Given the description of an element on the screen output the (x, y) to click on. 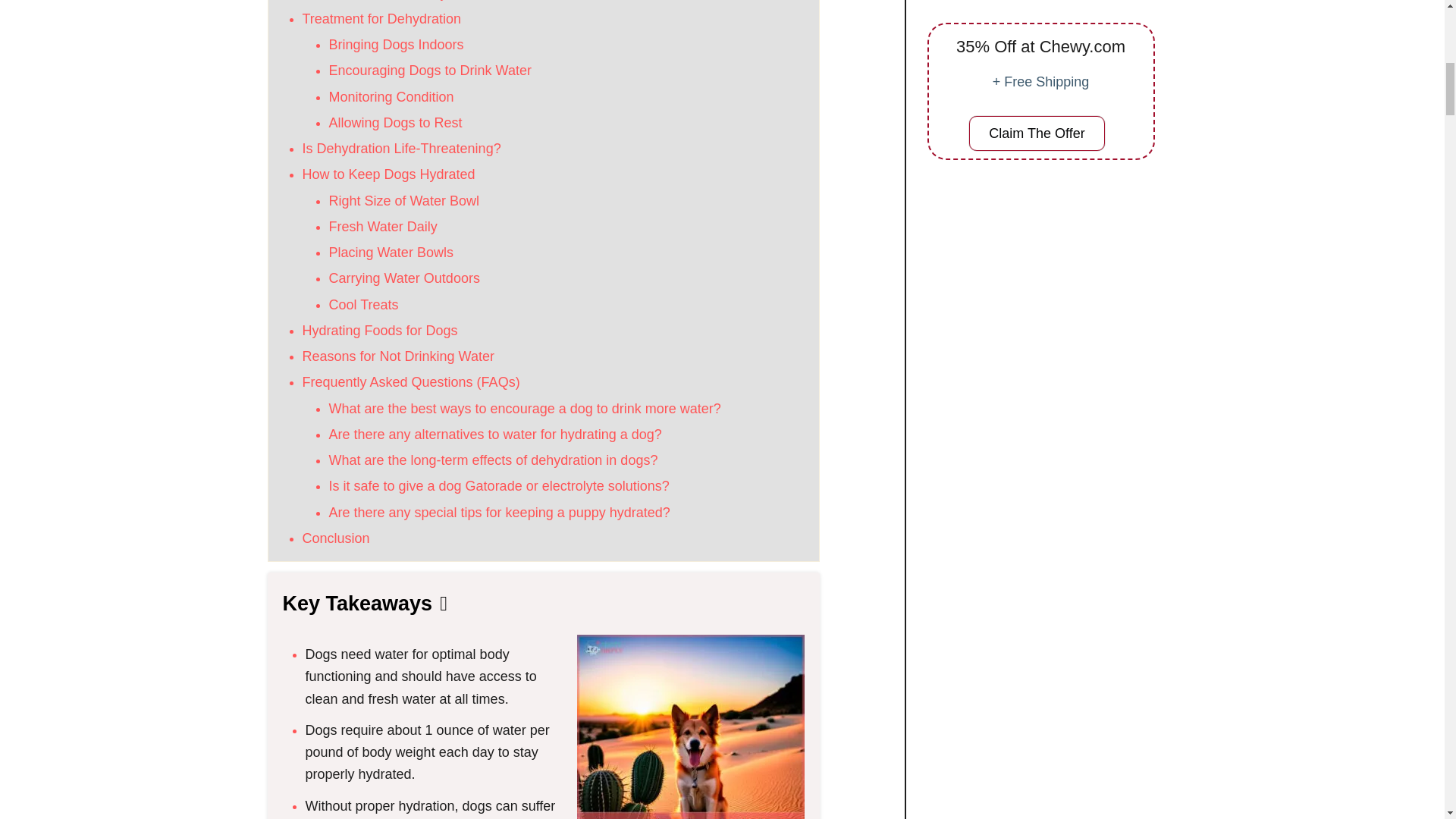
Allowing Dogs to Rest (396, 122)
Right Size of Water Bowl (404, 200)
Carrying Water Outdoors (404, 278)
Placing Water Bowls (390, 252)
Treatment for Dehydration (380, 18)
Cool Treats (363, 304)
Bringing Dogs Indoors (396, 44)
Monitoring Condition (391, 96)
Reasons for Not Drinking Water (397, 355)
How to Keep Dogs Hydrated (387, 174)
Fresh Water Daily (383, 226)
Is Dehydration Life-Threatening? (400, 148)
Hydrating Foods for Dogs (379, 330)
Encouraging Dogs to Drink Water (430, 70)
